Given the description of an element on the screen output the (x, y) to click on. 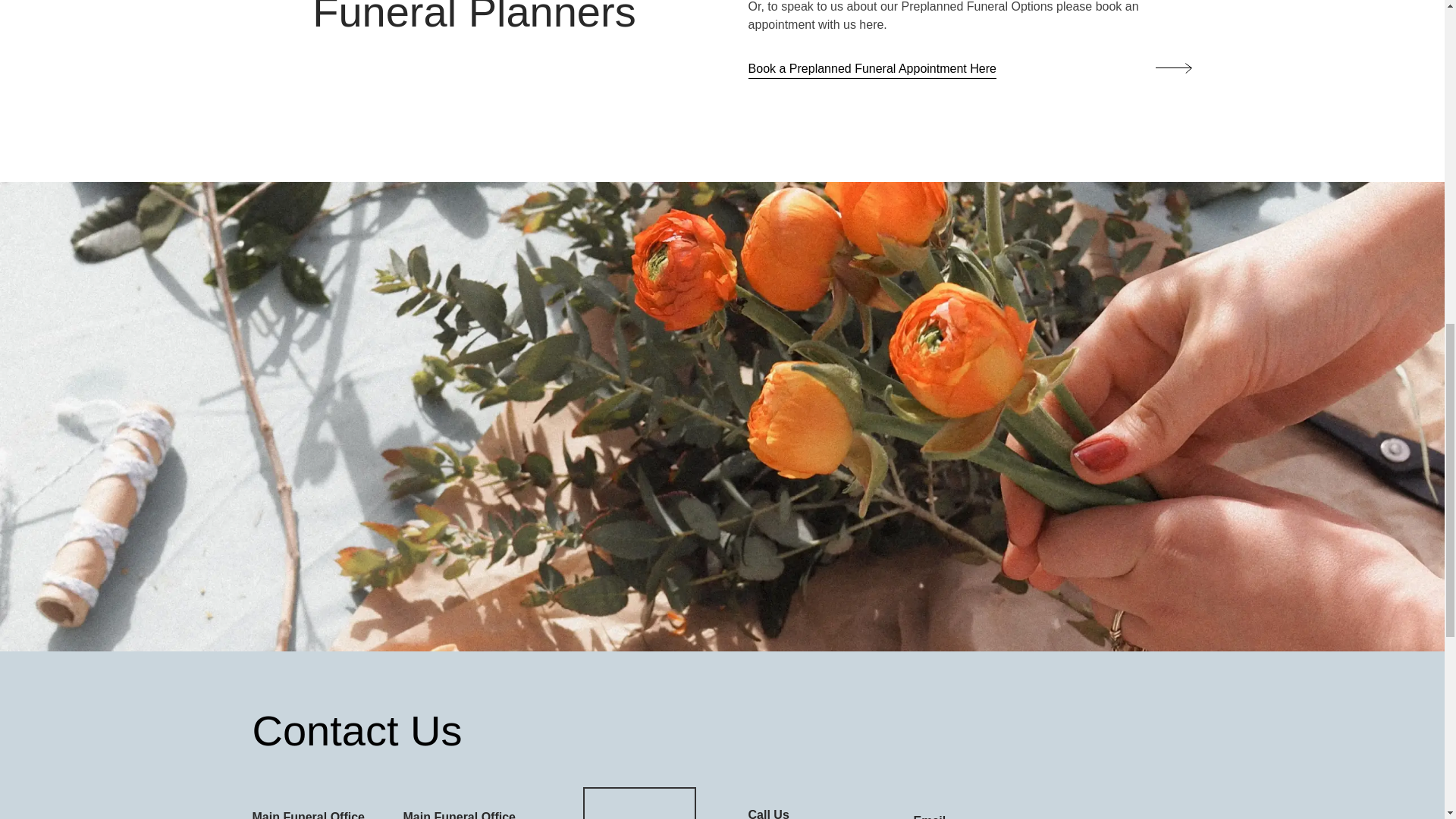
Email (930, 816)
Main Funeral Office (307, 814)
Call Us (768, 813)
